Given the description of an element on the screen output the (x, y) to click on. 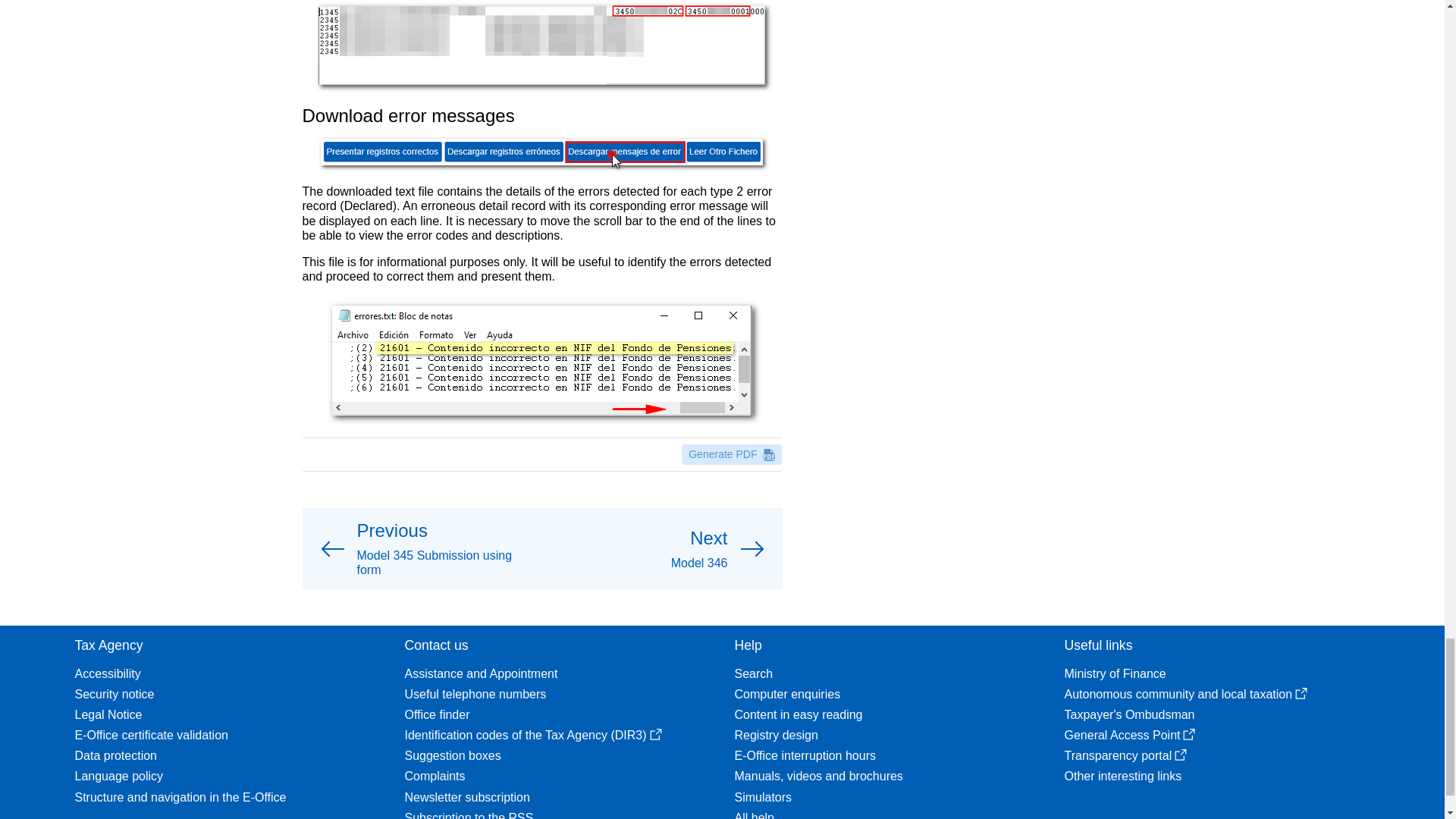
Opens in a new window (655, 734)
Opens in a new window (1301, 693)
Opens in a new window (1188, 734)
